Given the description of an element on the screen output the (x, y) to click on. 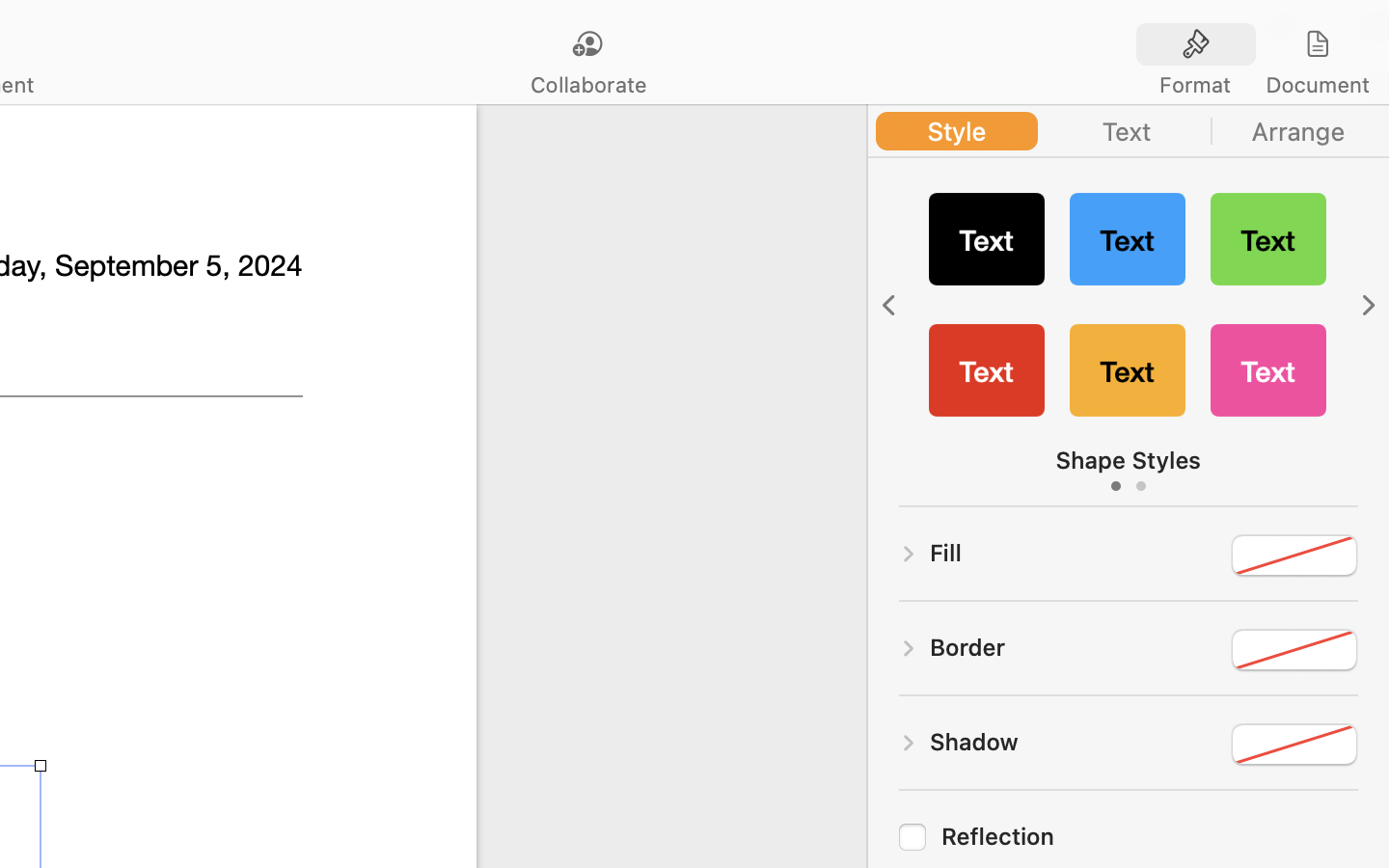
Reflection Element type: AXStaticText (1149, 835)
Border Element type: AXStaticText (967, 646)
<AXUIElement 0x1717b0da0> {pid=1482} Element type: AXRadioGroup (1128, 131)
